Given the description of an element on the screen output the (x, y) to click on. 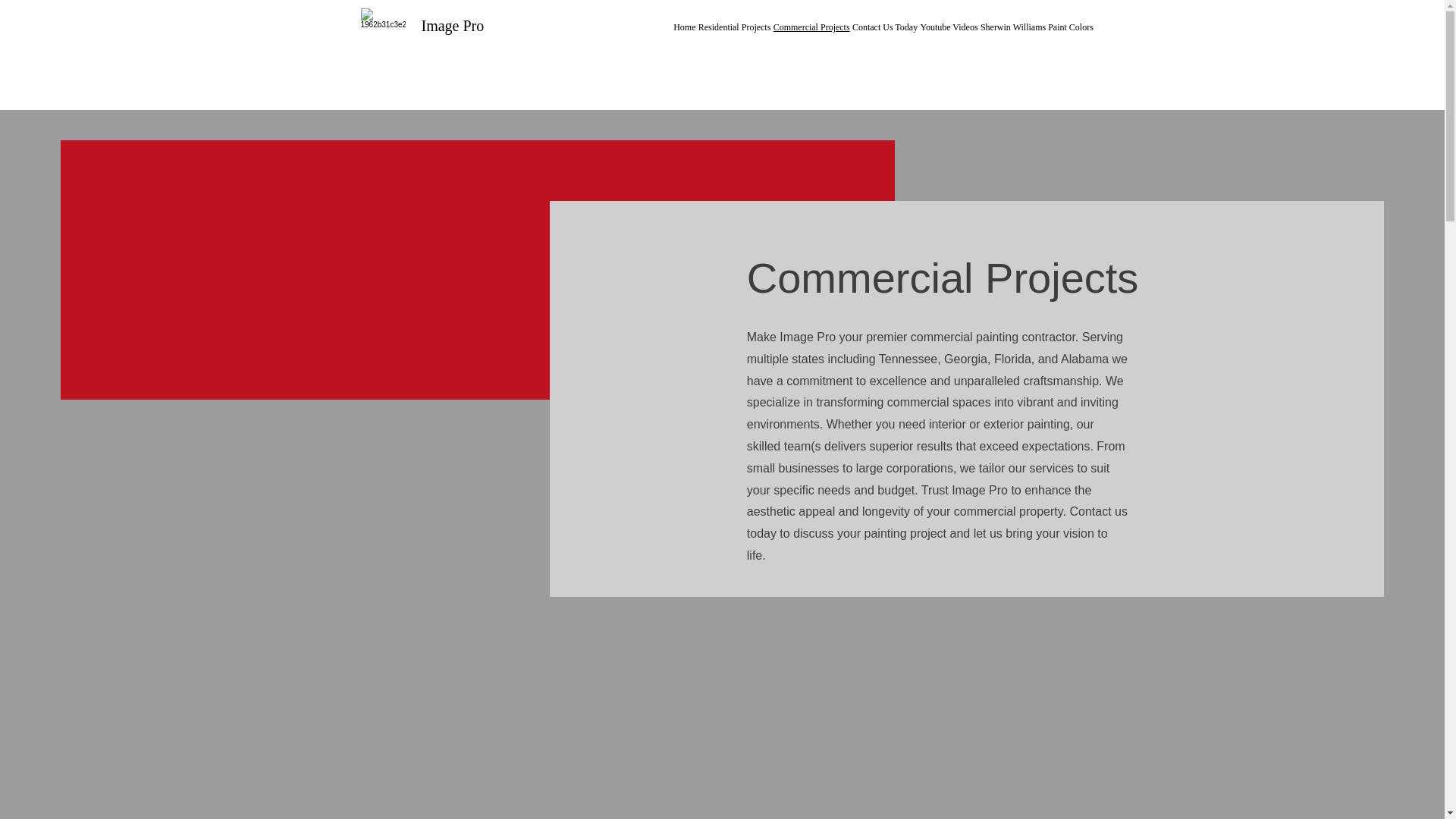
Contact Us Today (884, 26)
Home (684, 26)
Residential Projects (734, 26)
Commercial Projects (810, 26)
Youtube Videos (948, 26)
Sherwin Williams Paint Colors (1036, 26)
